Given the description of an element on the screen output the (x, y) to click on. 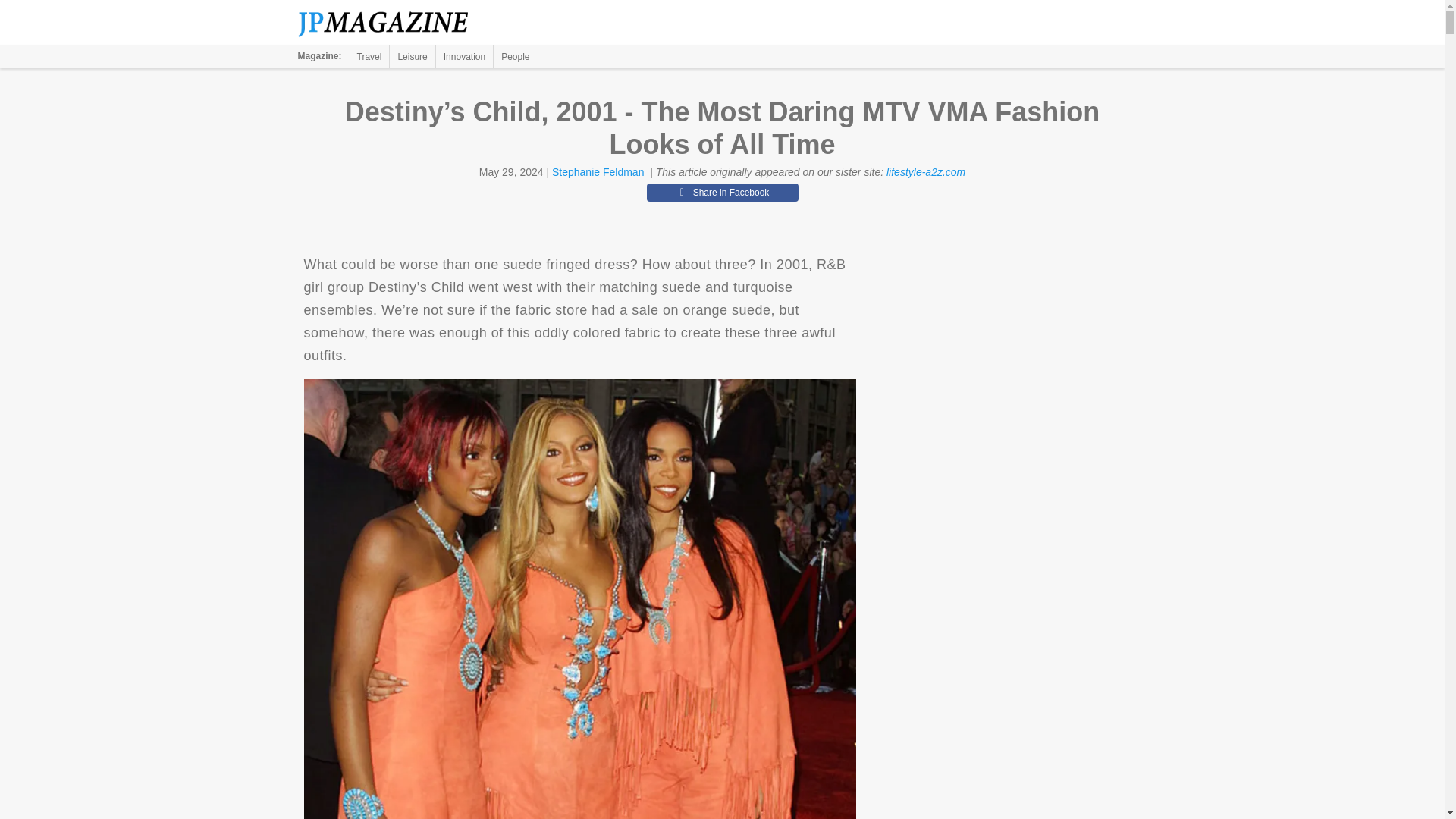
lifestyle-a2z.com (925, 172)
Innovation (464, 56)
The Jerusalem Post Magazine (391, 22)
Stephanie Feldman (597, 172)
Share in Facebook (721, 192)
Travel (369, 56)
People (515, 56)
Leisure (411, 56)
